Given the description of an element on the screen output the (x, y) to click on. 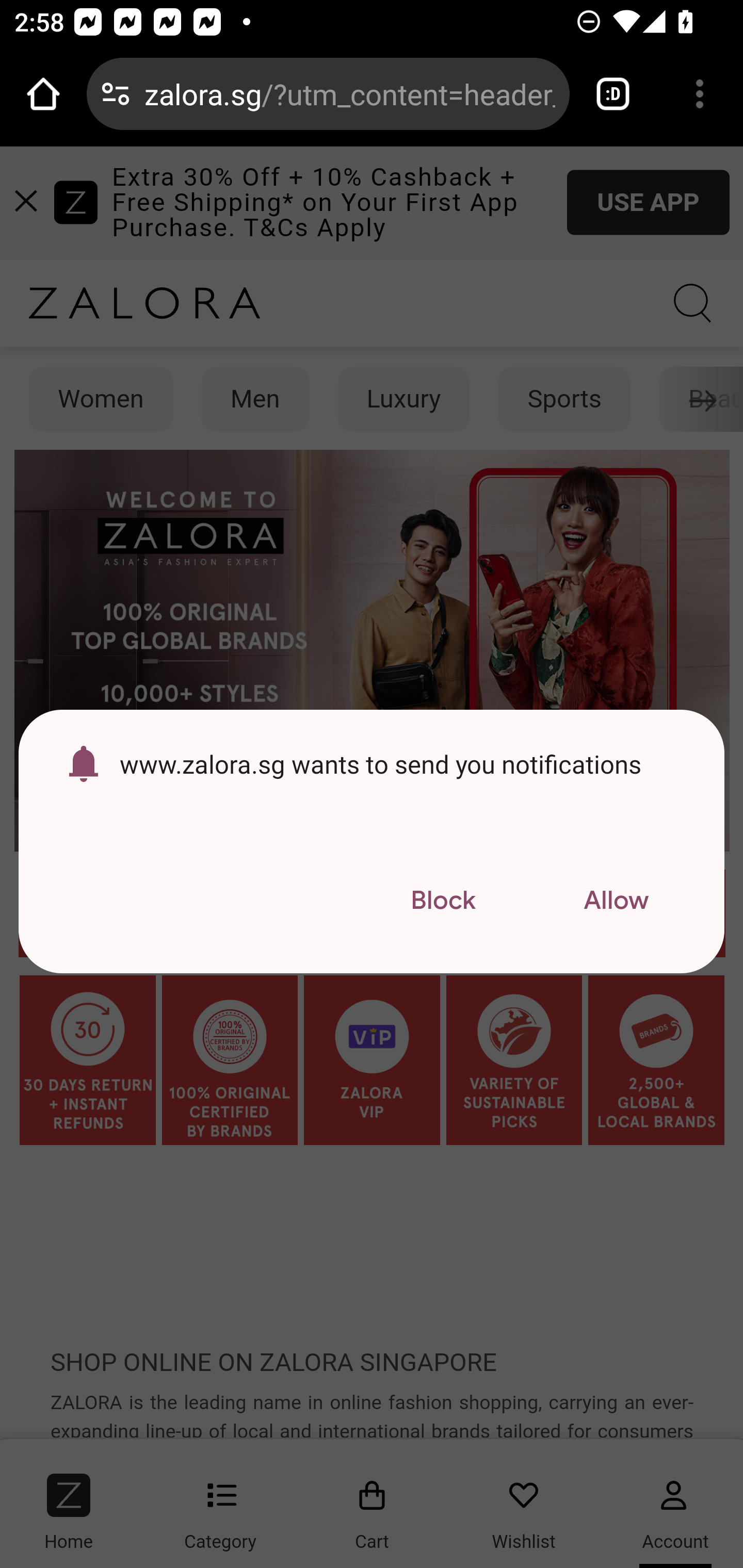
Open the home page (43, 93)
Connection is secure (115, 93)
Switch or close tabs (612, 93)
Customize and control Google Chrome (699, 93)
Block (442, 900)
Allow (615, 900)
